Given the description of an element on the screen output the (x, y) to click on. 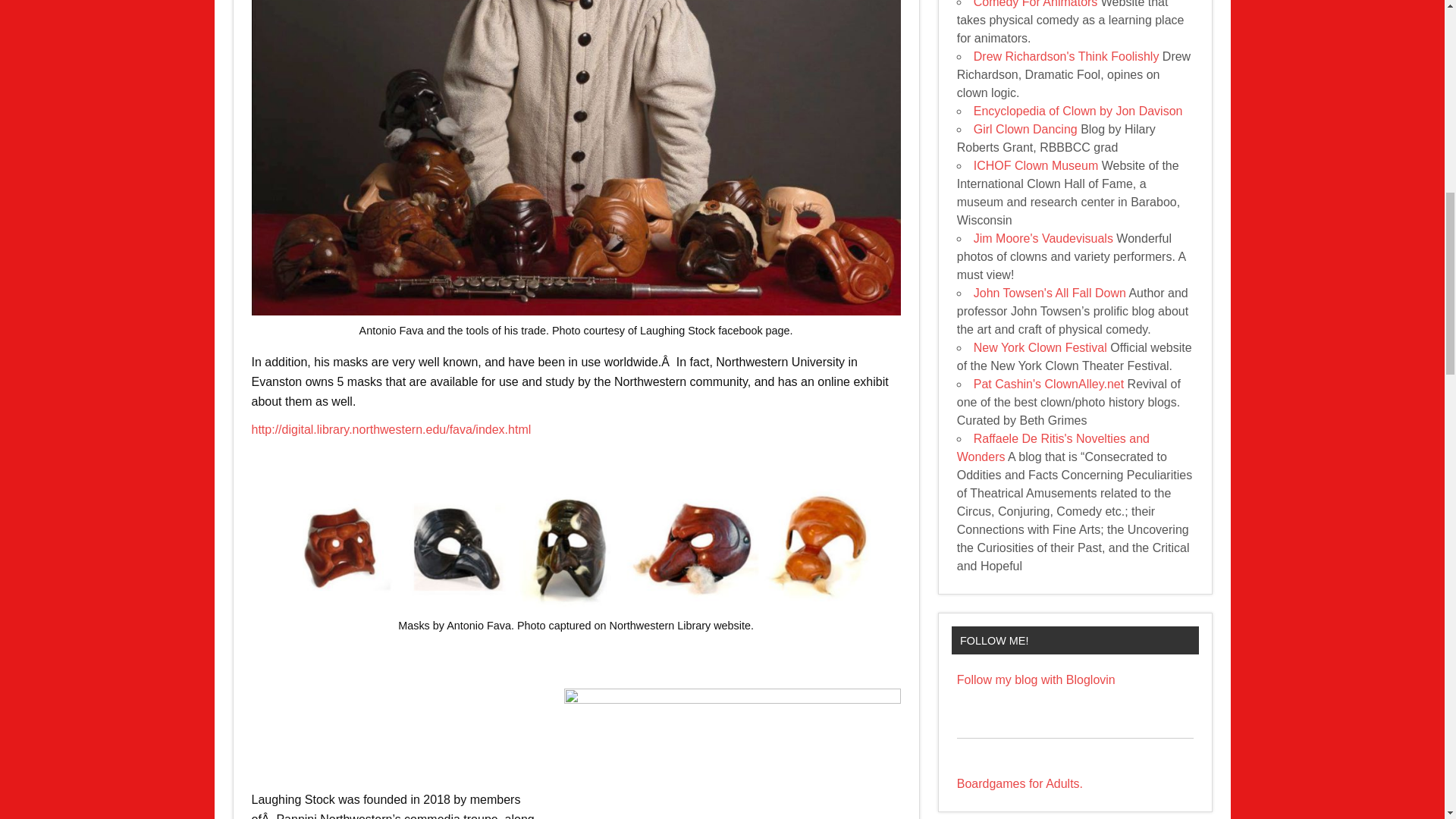
Drew Richardson, Dramatic Fool, opines on clown logic. (1066, 56)
Official website of the New York Clown Theater Festival. (1040, 347)
Blog by Hilary Roberts Grant, RBBBCC grad (1025, 128)
